Given the description of an element on the screen output the (x, y) to click on. 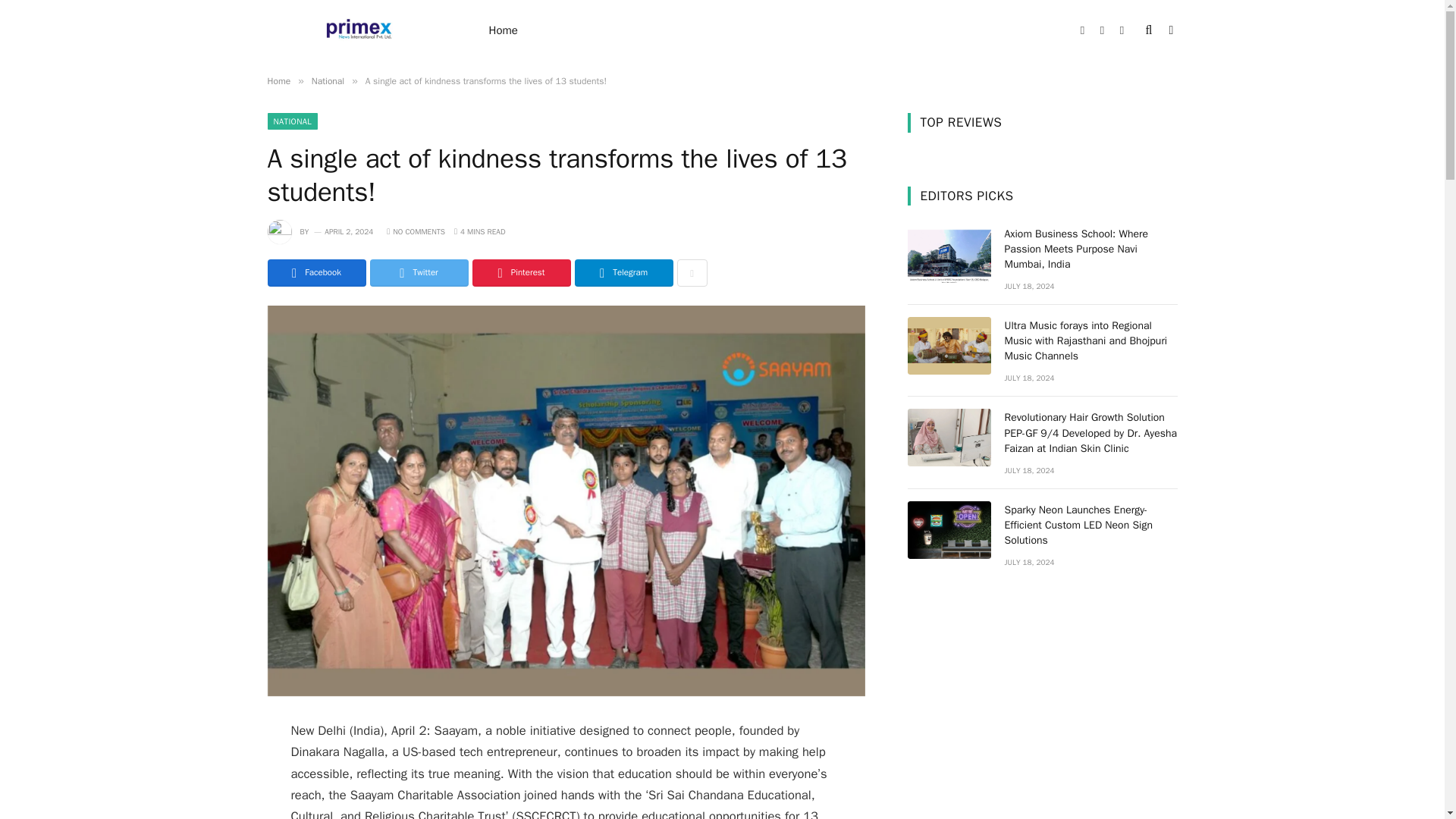
Telegram (623, 272)
National (327, 80)
Instagram (1122, 30)
Search (1149, 30)
Home (503, 30)
NO COMMENTS (416, 231)
Facebook (1083, 30)
Share on Facebook (315, 272)
Switch to Dark Design - easier on eyes. (1168, 30)
Facebook (315, 272)
Primex News International (357, 31)
NATIONAL (291, 121)
Twitter (1102, 30)
Pinterest (520, 272)
